Given the description of an element on the screen output the (x, y) to click on. 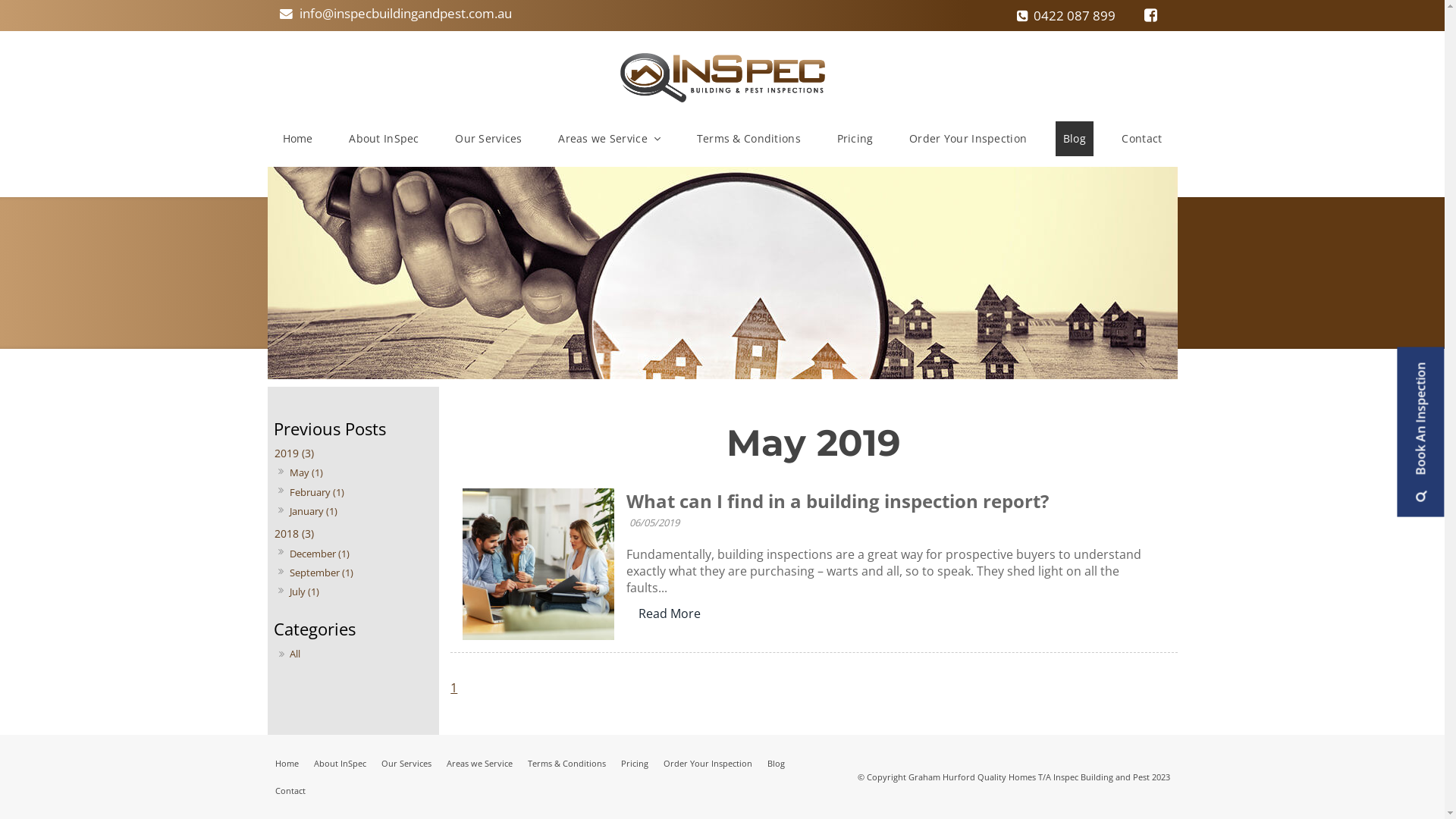
Terms & Conditions Element type: text (566, 763)
July (1) Element type: text (304, 591)
info@inspecbuildingandpest.com.au Element type: text (395, 13)
About InSpec Element type: text (383, 138)
0422 087 899 Element type: text (1066, 15)
2018 (3) Element type: text (353, 533)
1 Element type: text (453, 687)
Terms & Conditions Element type: text (748, 138)
September (1) Element type: text (321, 572)
Areas we Service Element type: text (609, 138)
Order Your Inspection Element type: text (707, 763)
Our Services Element type: text (405, 763)
Areas we Service Element type: text (478, 763)
January (1) Element type: text (313, 511)
Blog Element type: text (775, 763)
Our Services Element type: text (488, 138)
About InSpec Element type: text (339, 763)
May (1) Element type: text (305, 472)
Pricing Element type: text (855, 138)
Contact Element type: text (1141, 138)
Read More Element type: text (669, 613)
December (1) Element type: text (319, 552)
Order Your Inspection Element type: text (967, 138)
Blog Element type: text (1074, 138)
Contact Element type: text (289, 790)
Read More Element type: text (669, 613)
All Element type: text (355, 654)
Home Element type: text (297, 138)
Home Element type: text (285, 763)
February (1) Element type: text (316, 491)
2019 (3) Element type: text (353, 453)
Pricing Element type: text (633, 763)
